Given the description of an element on the screen output the (x, y) to click on. 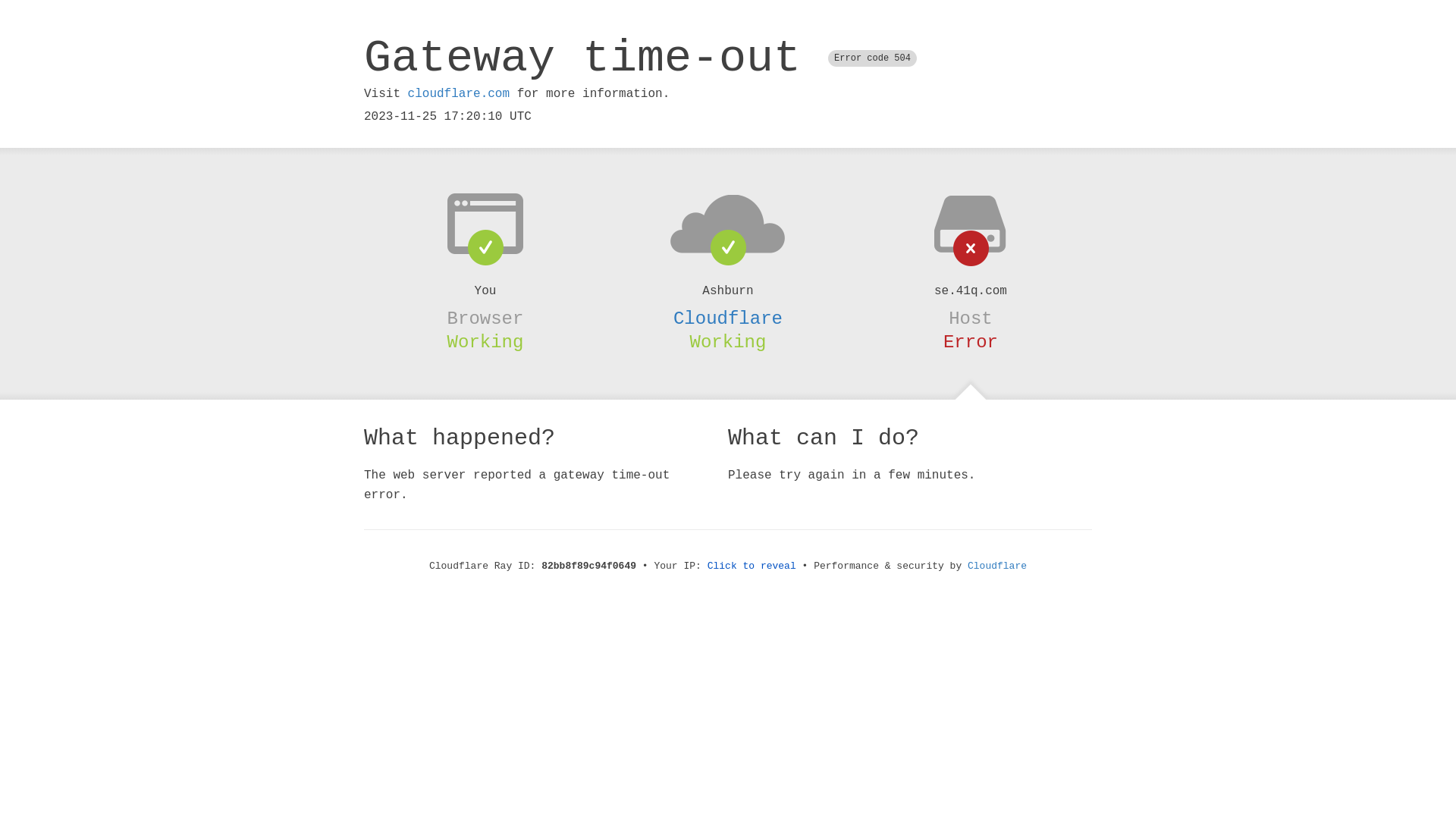
Click to reveal Element type: text (751, 565)
Cloudflare Element type: text (996, 565)
cloudflare.com Element type: text (458, 93)
Cloudflare Element type: text (727, 318)
